Given the description of an element on the screen output the (x, y) to click on. 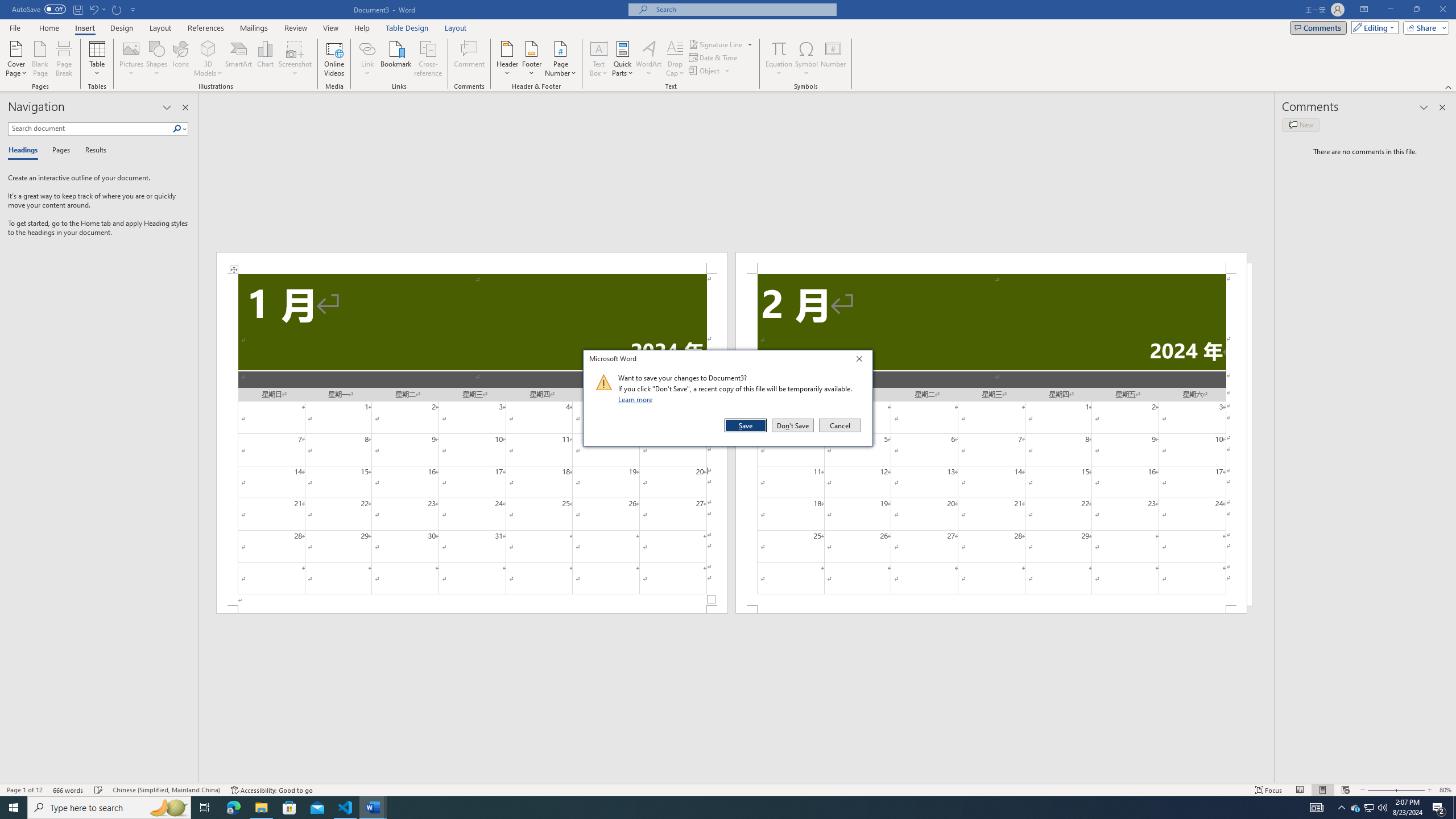
Object... (709, 69)
Learn more (636, 399)
Cancel (839, 425)
